Given the description of an element on the screen output the (x, y) to click on. 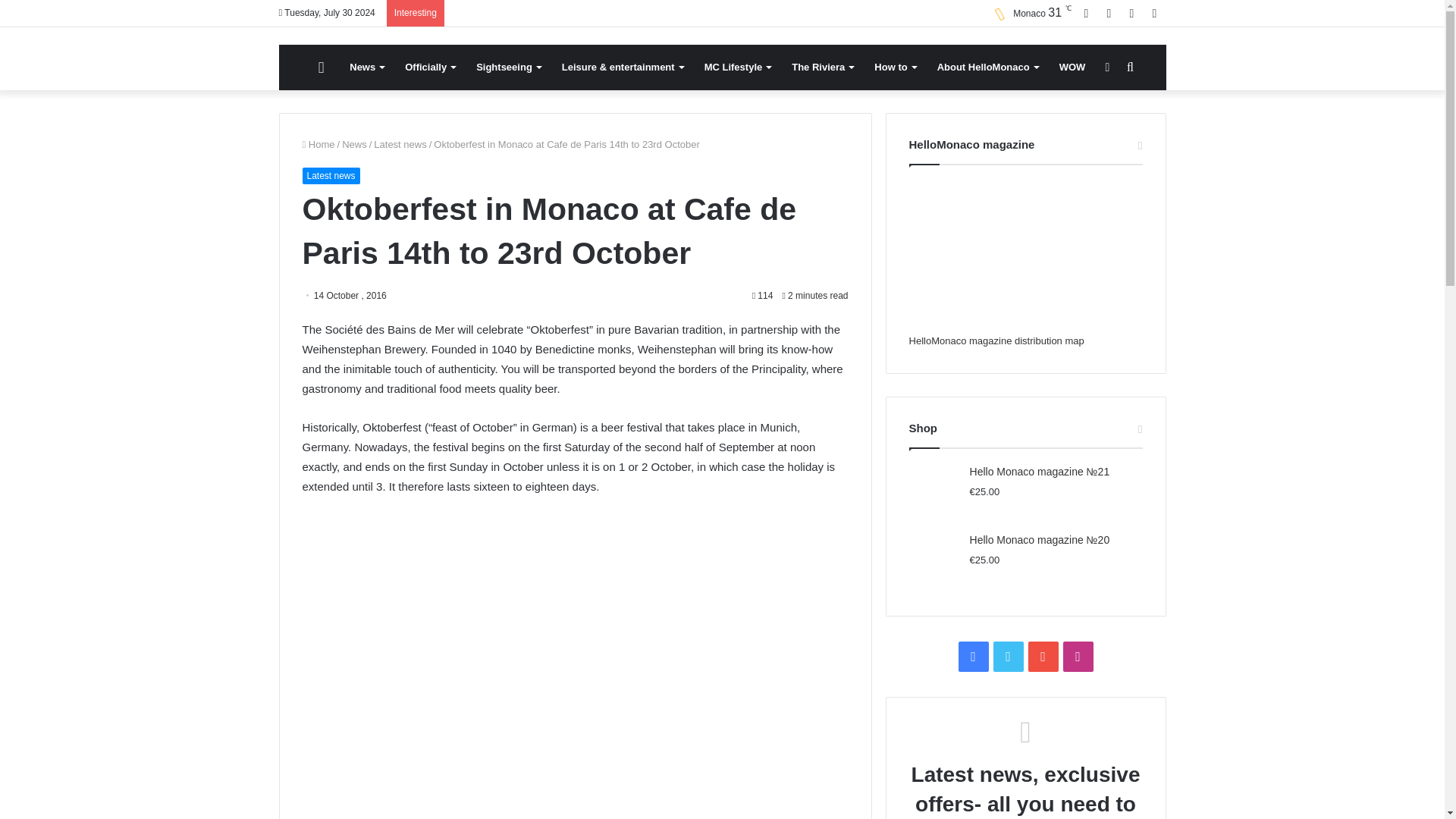
Officially (429, 67)
Clear Sky (1027, 13)
News (366, 67)
Sightseeing (508, 67)
